Given the description of an element on the screen output the (x, y) to click on. 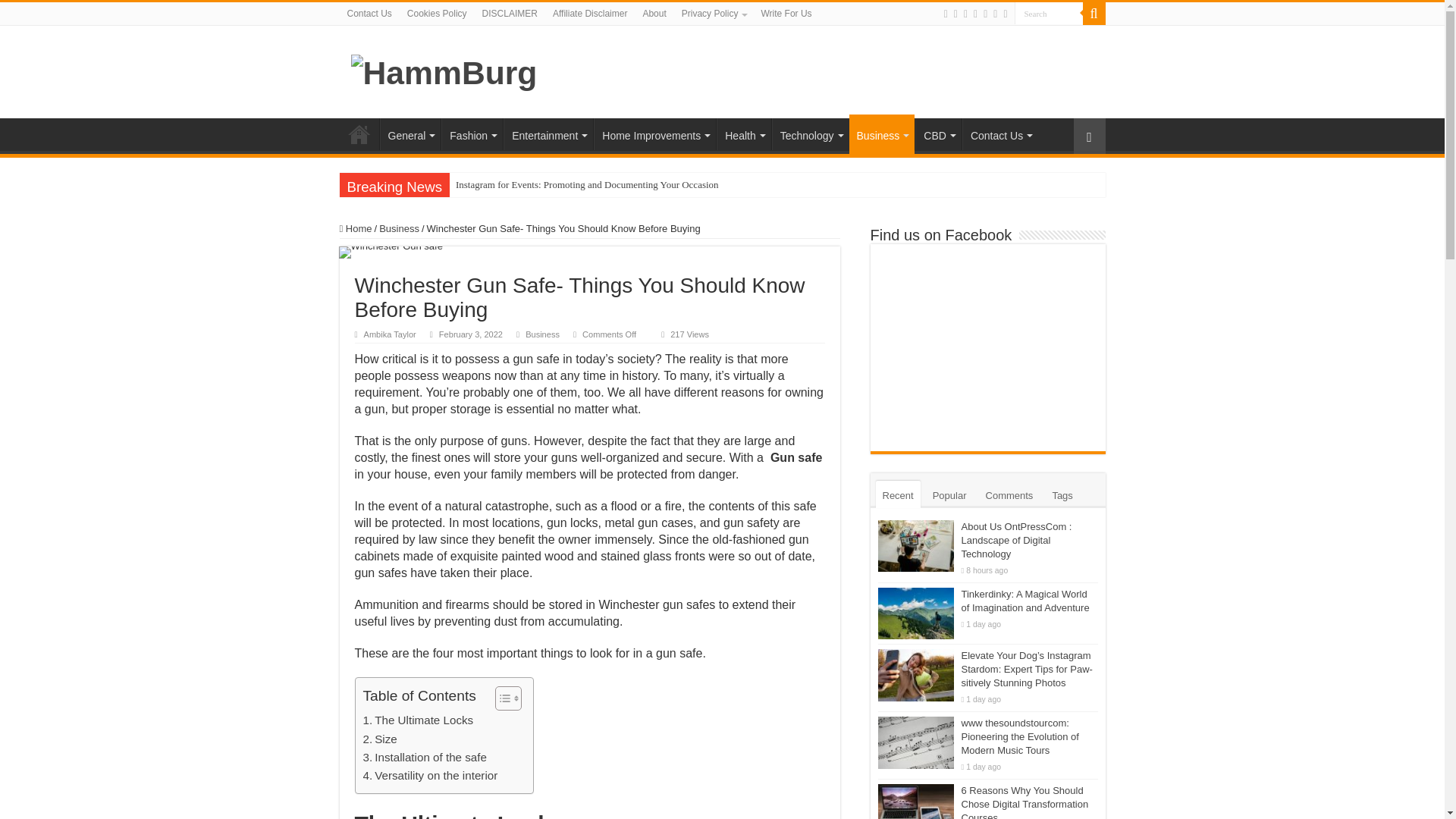
Dribbble (975, 13)
Facebook (945, 13)
Twitter (955, 13)
Search (1048, 13)
Pinterest (965, 13)
Search (1048, 13)
Search (1048, 13)
